Given the description of an element on the screen output the (x, y) to click on. 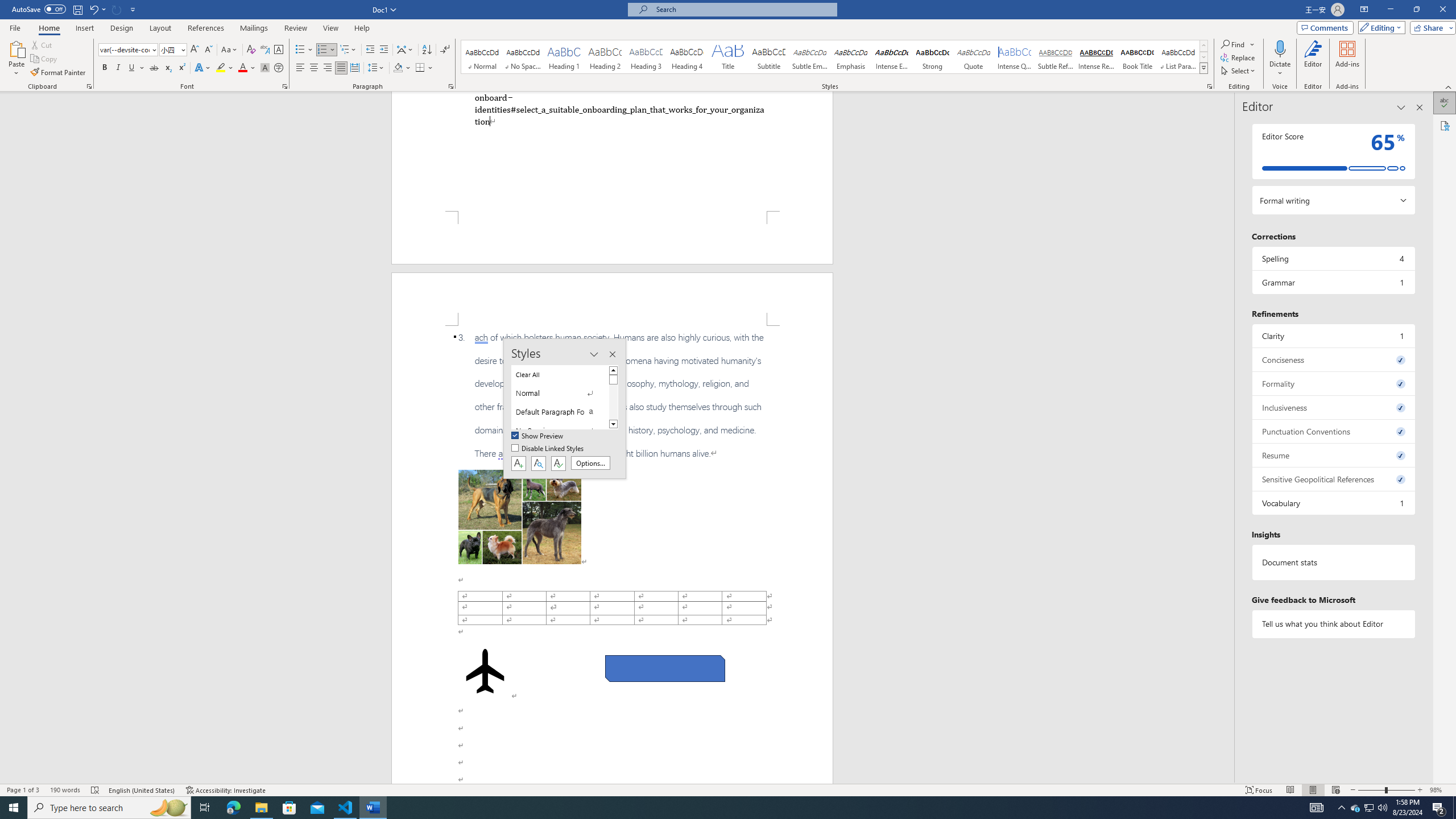
System (6, 6)
Multilevel List (347, 49)
Spelling and Grammar Check Errors (94, 790)
More Options (1280, 68)
Bullets (300, 49)
Zoom (1386, 790)
Book Title (1136, 56)
Line and Paragraph Spacing (376, 67)
Bold (104, 67)
Subscript (167, 67)
Open (182, 49)
Editor (1312, 58)
